Given the description of an element on the screen output the (x, y) to click on. 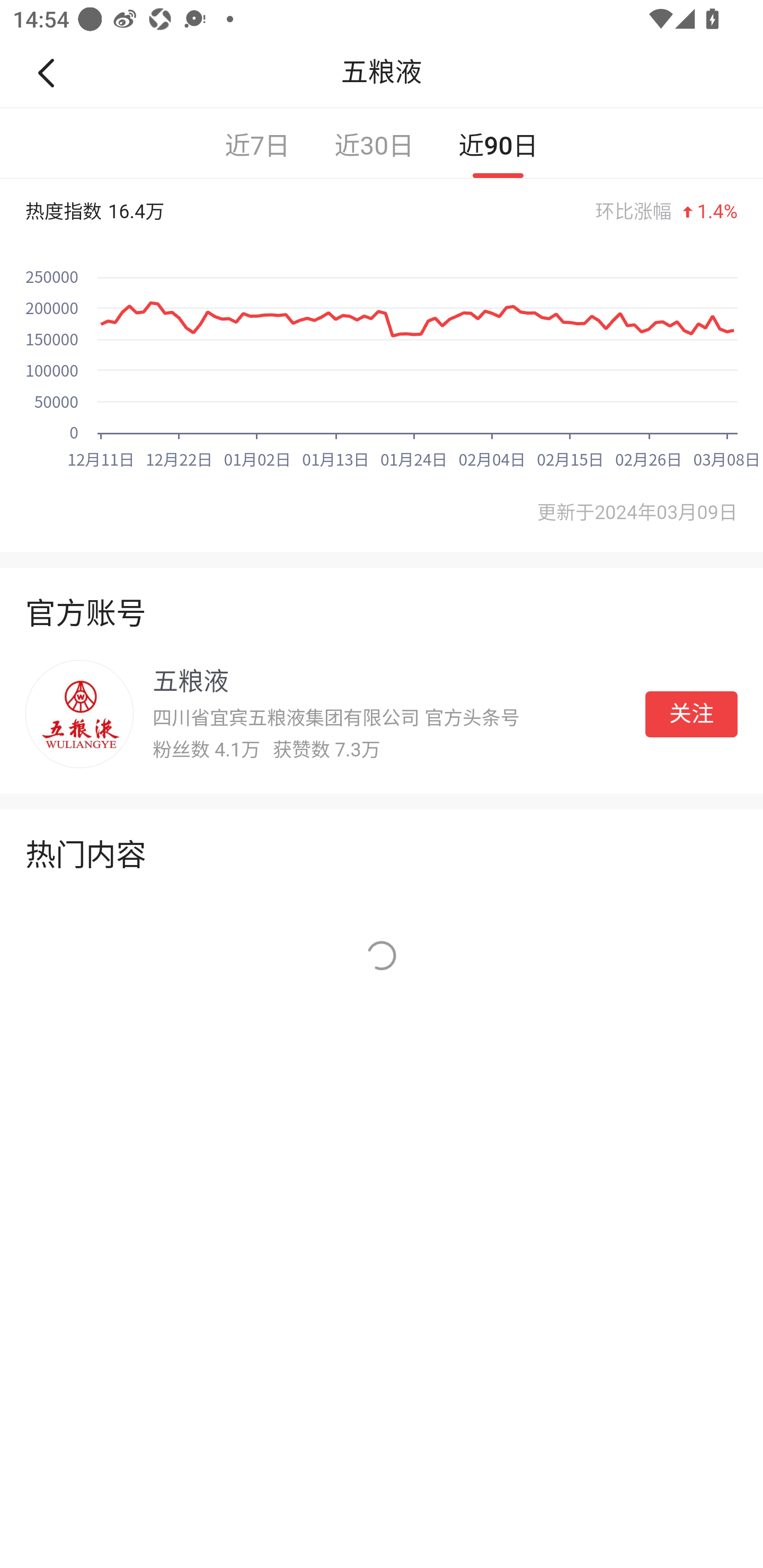
返回 (53, 72)
近7日 (257, 143)
近30日 (374, 143)
近90日 (497, 143)
头像 五粮液 四川省宜宾五粮液集团有限公司 官方头条号 粉丝数 4.1万获赞数 7.3万 关注 (381, 714)
